Given the description of an element on the screen output the (x, y) to click on. 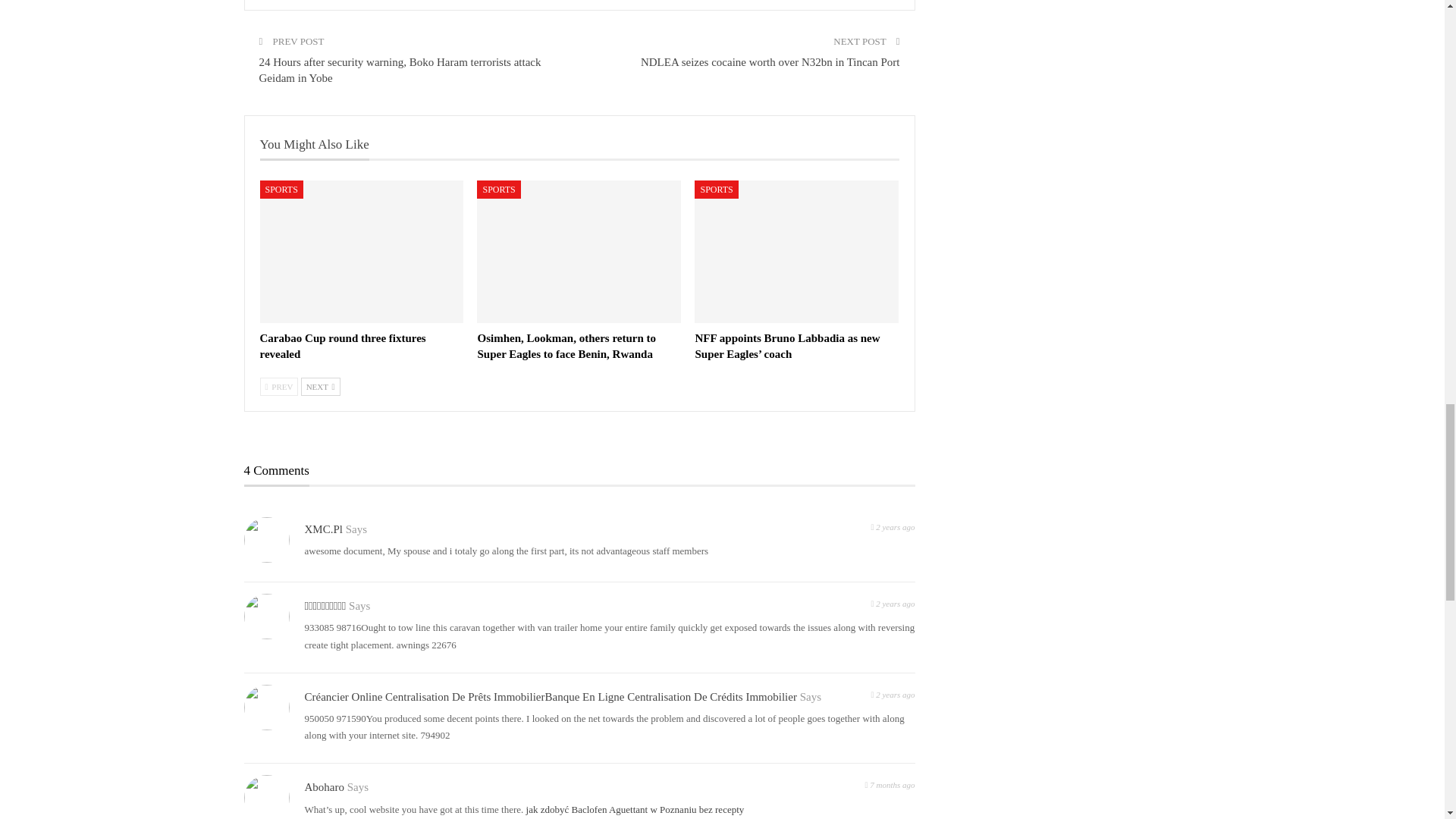
Carabao Cup round three fixtures revealed (342, 346)
Carabao Cup round three fixtures revealed (361, 251)
